Given the description of an element on the screen output the (x, y) to click on. 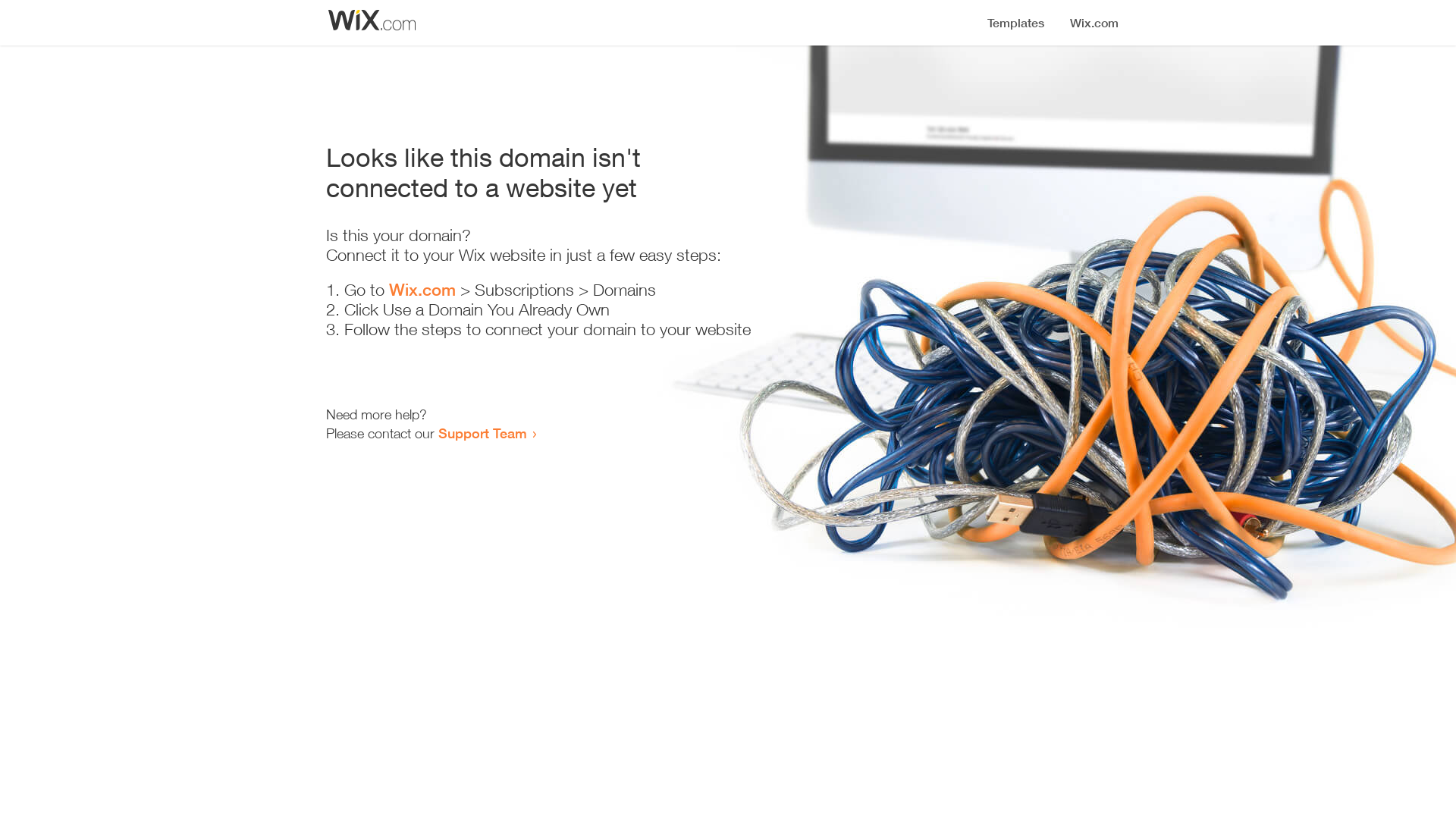
Wix.com Element type: text (422, 289)
Support Team Element type: text (482, 432)
